Given the description of an element on the screen output the (x, y) to click on. 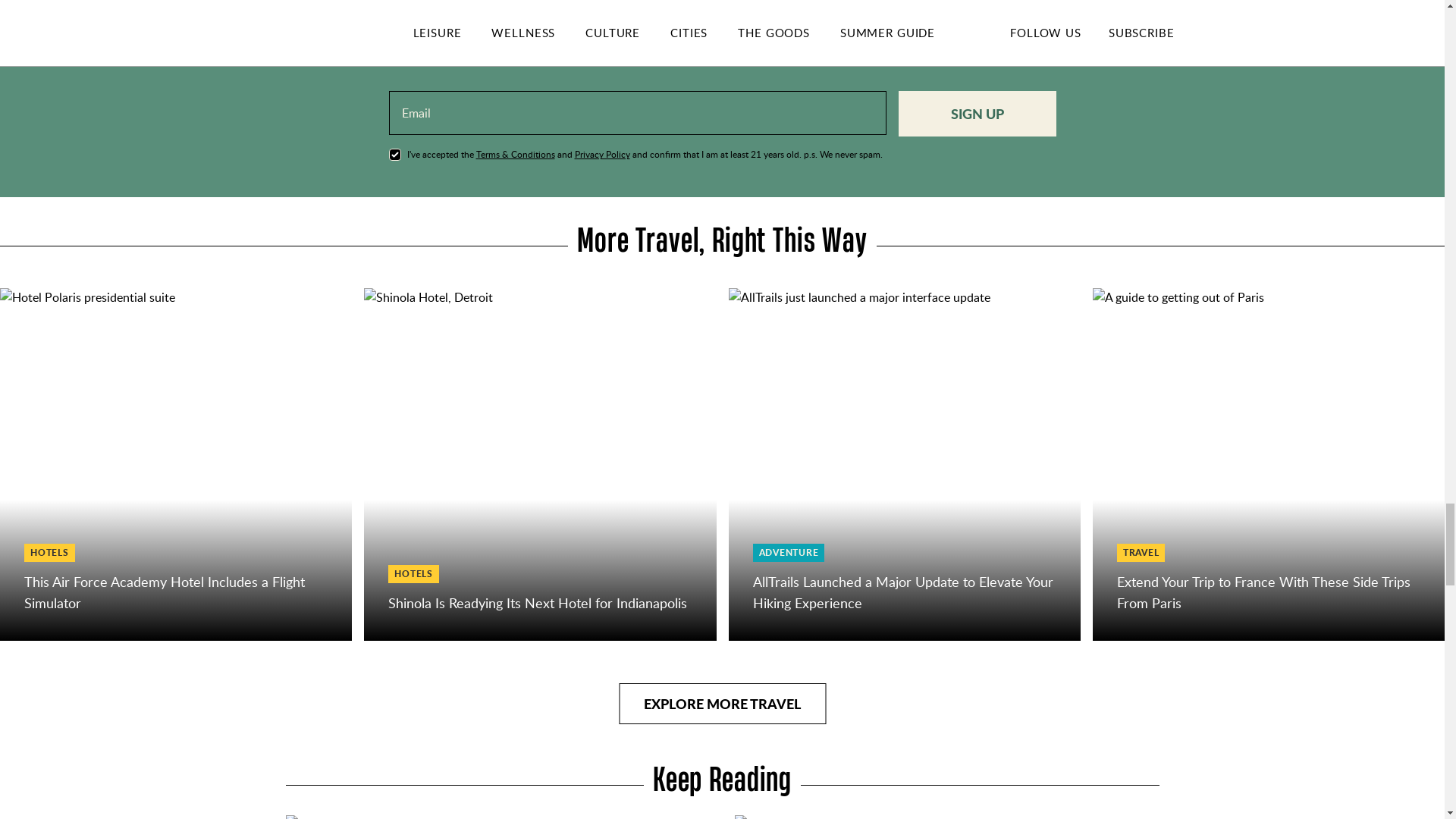
on (394, 154)
